Given the description of an element on the screen output the (x, y) to click on. 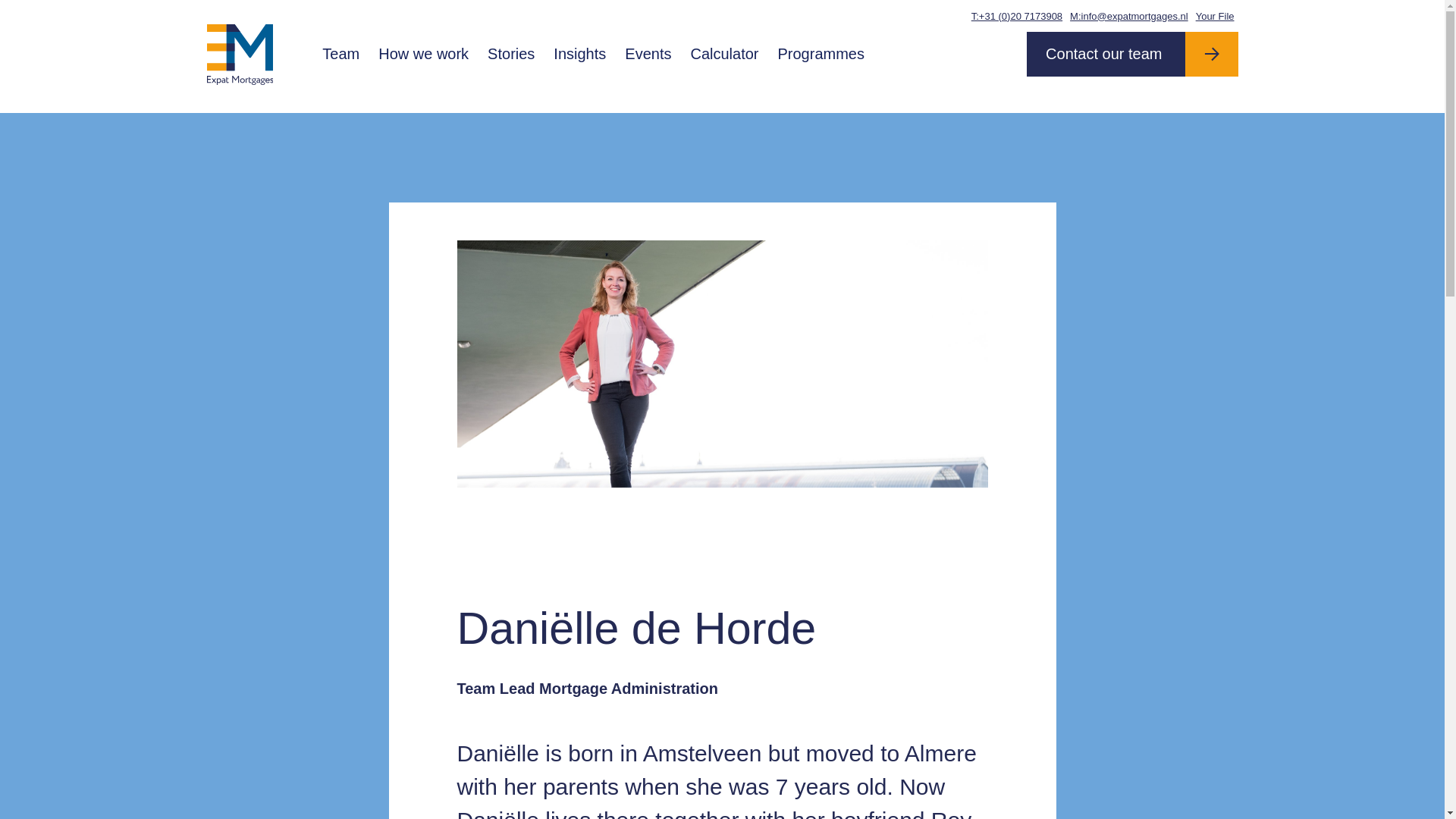
Programmes (820, 53)
How we work (424, 53)
Events (648, 53)
Calculator (724, 53)
Contact our team (1131, 53)
Insights (579, 53)
Stories (511, 53)
Your File (1214, 16)
Team (341, 53)
